Given the description of an element on the screen output the (x, y) to click on. 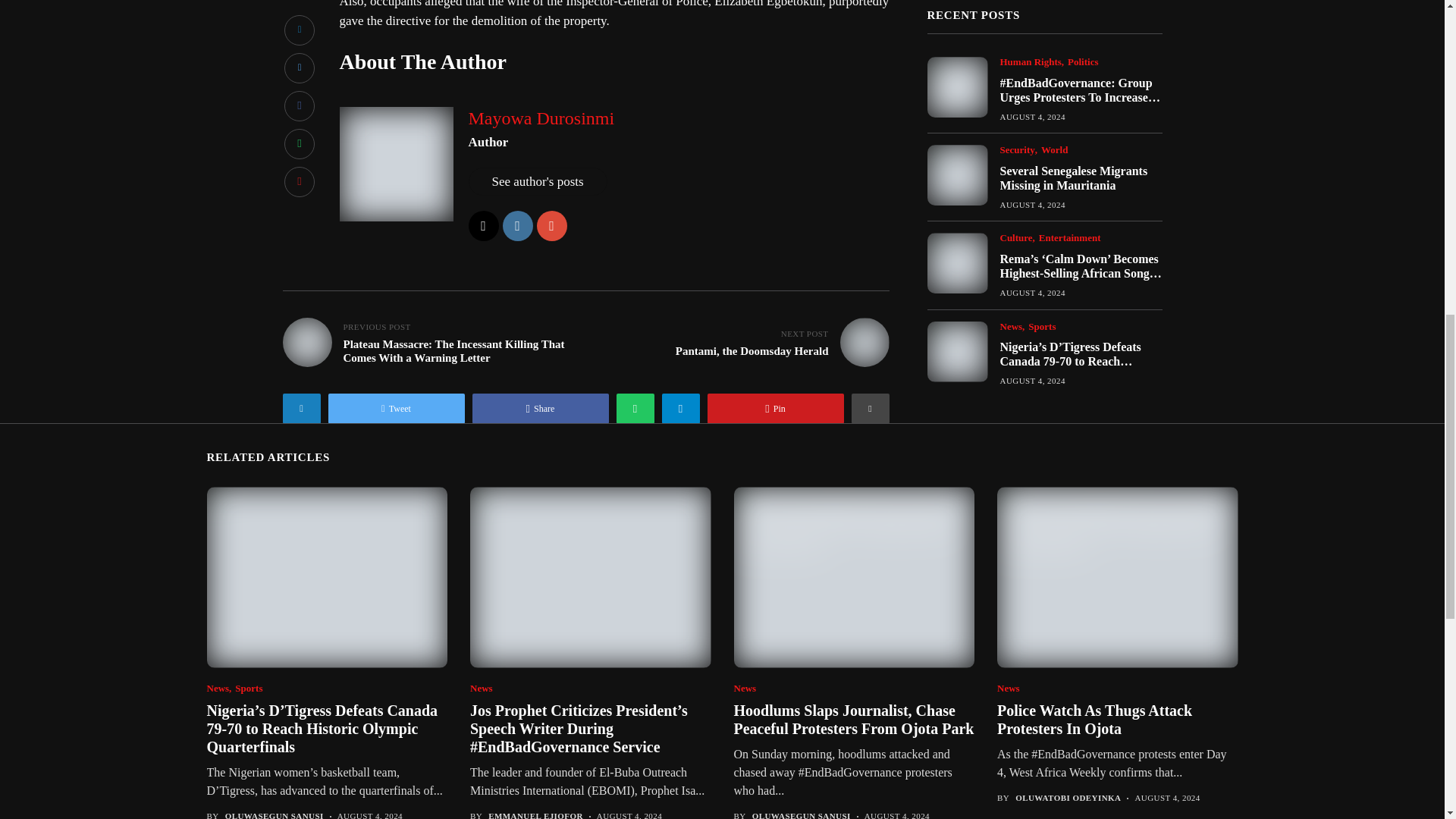
Posts by Emmanuel Ejiofor (535, 815)
Posts by Oluwatobi Odeyinka (1067, 798)
Posts by Oluwasegun Sanusi (801, 815)
Posts by Oluwasegun Sanusi (274, 815)
